Given the description of an element on the screen output the (x, y) to click on. 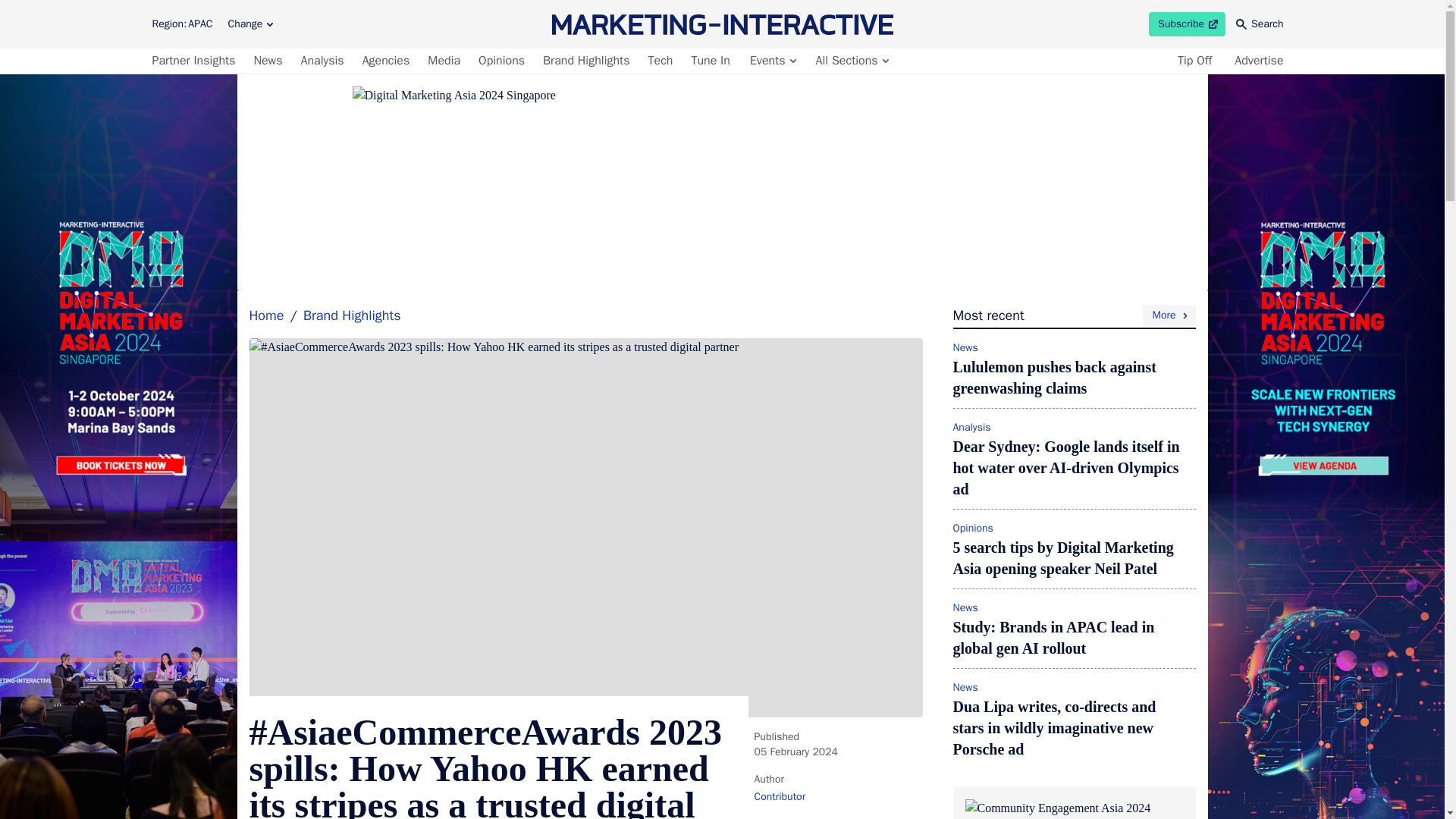
Opinions (501, 60)
News (267, 60)
Agencies (386, 60)
Brand Highlights (585, 60)
Analysis (321, 60)
Partner Insights (195, 60)
Search (1260, 24)
Tune In (1186, 24)
All Sections (709, 60)
Tech (851, 60)
Digital Marketing Asia 2024 Singapore (660, 60)
Media (772, 60)
Change (443, 60)
